Given the description of an element on the screen output the (x, y) to click on. 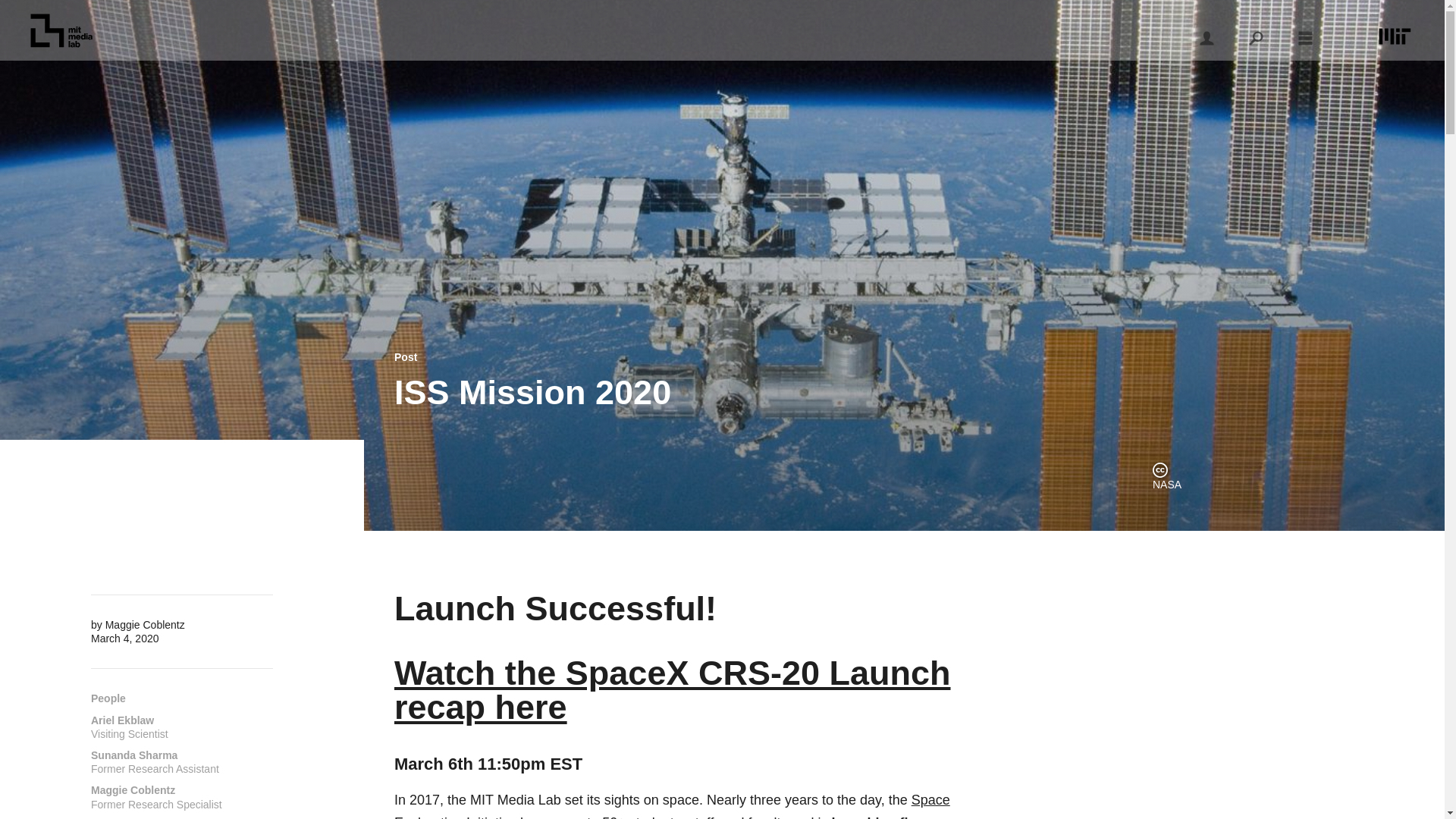
Maggie Coblentz (144, 624)
Watch the SpaceX CRS-20 Launch recap here (181, 796)
Space Exploration Initiative (672, 689)
